Given the description of an element on the screen output the (x, y) to click on. 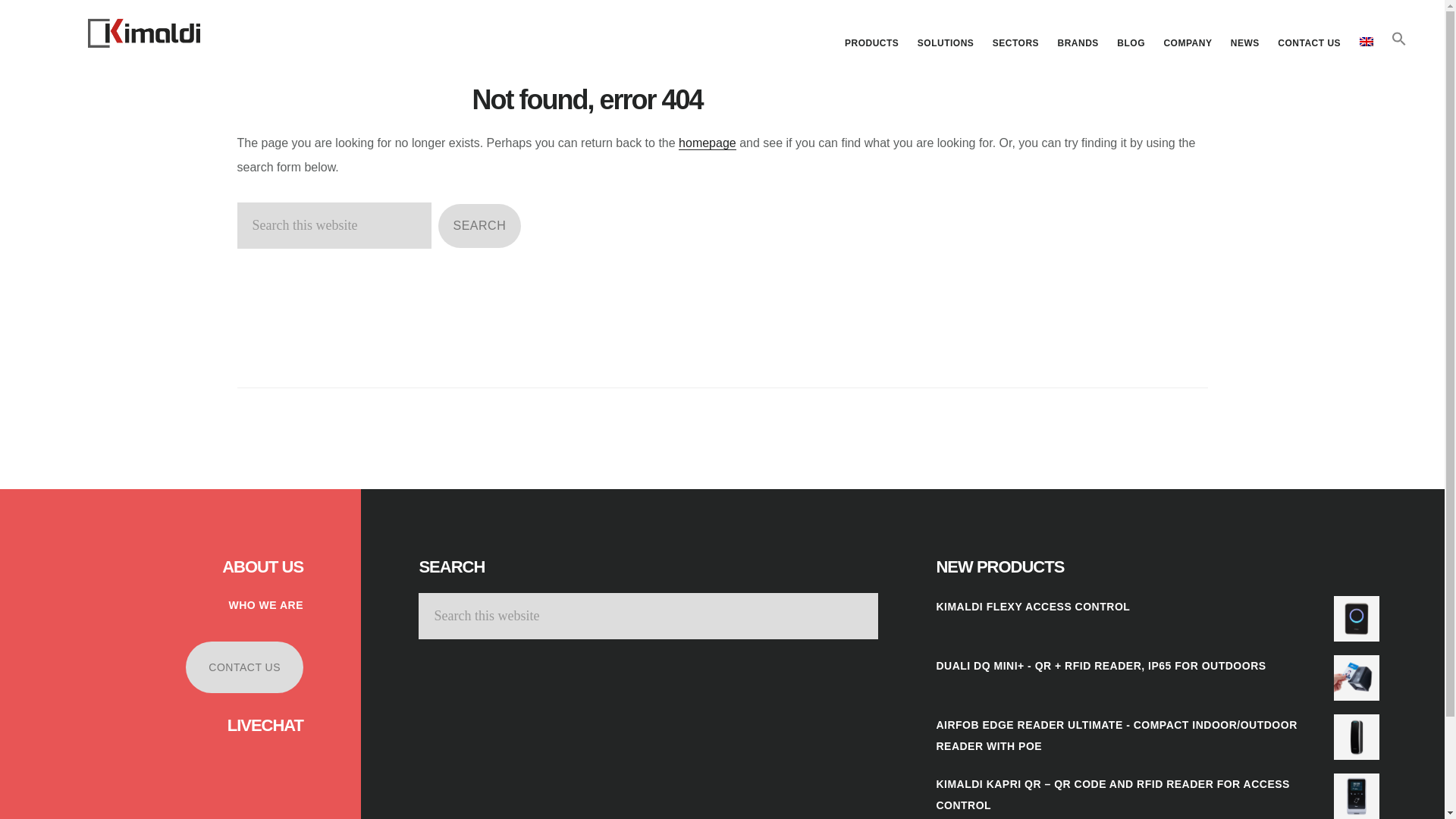
SECTORS (1015, 43)
BRANDS (1077, 43)
BLOG (1131, 43)
Search (479, 225)
KIMALDI (143, 32)
PRODUCTS (871, 43)
SOLUTIONS (945, 43)
